Given the description of an element on the screen output the (x, y) to click on. 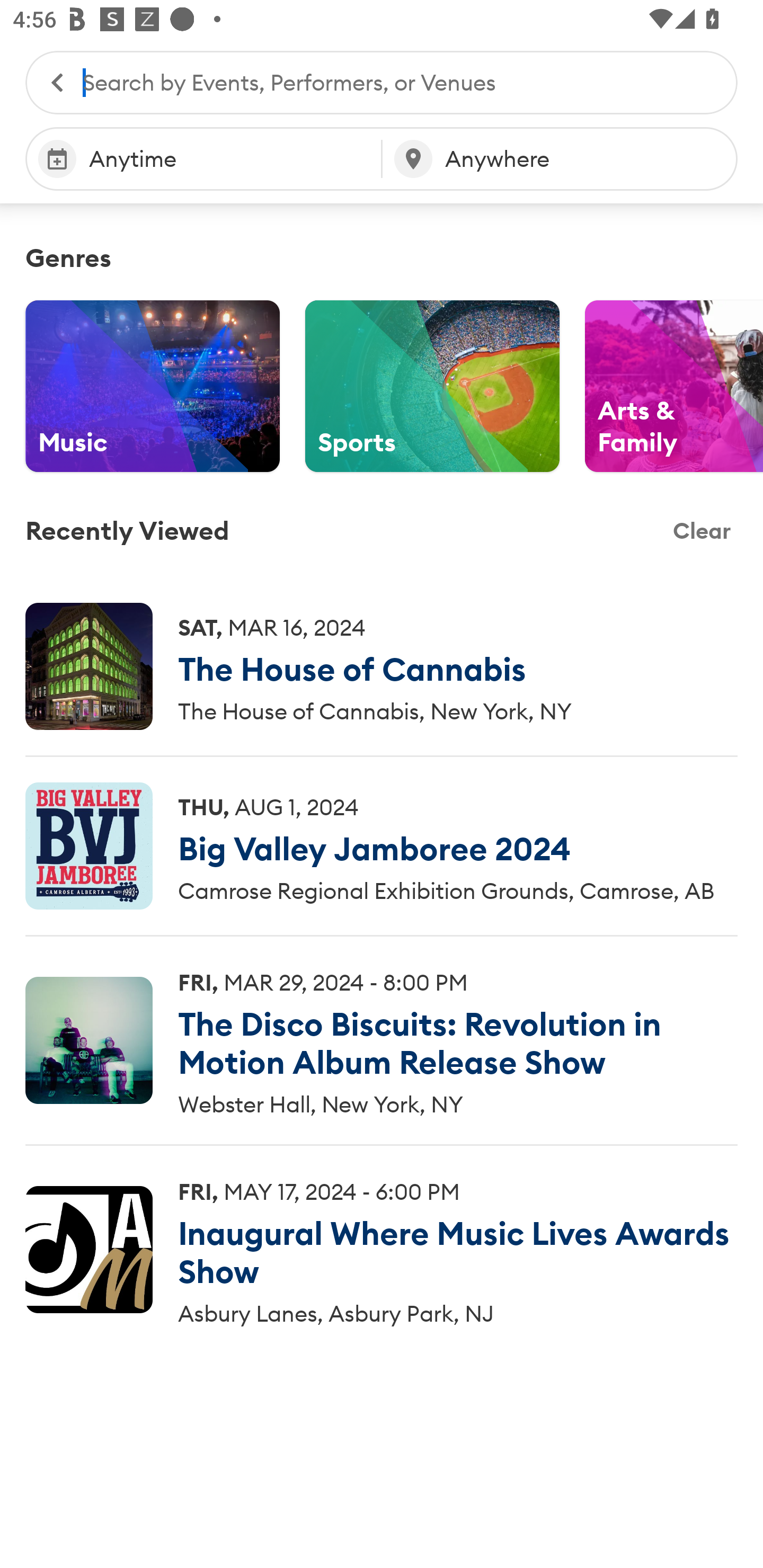
BackButton (47, 81)
Anytime (203, 158)
Anywhere (559, 158)
Music (152, 386)
Sports (432, 386)
Arts & Family (674, 386)
Clear (701, 531)
